Given the description of an element on the screen output the (x, y) to click on. 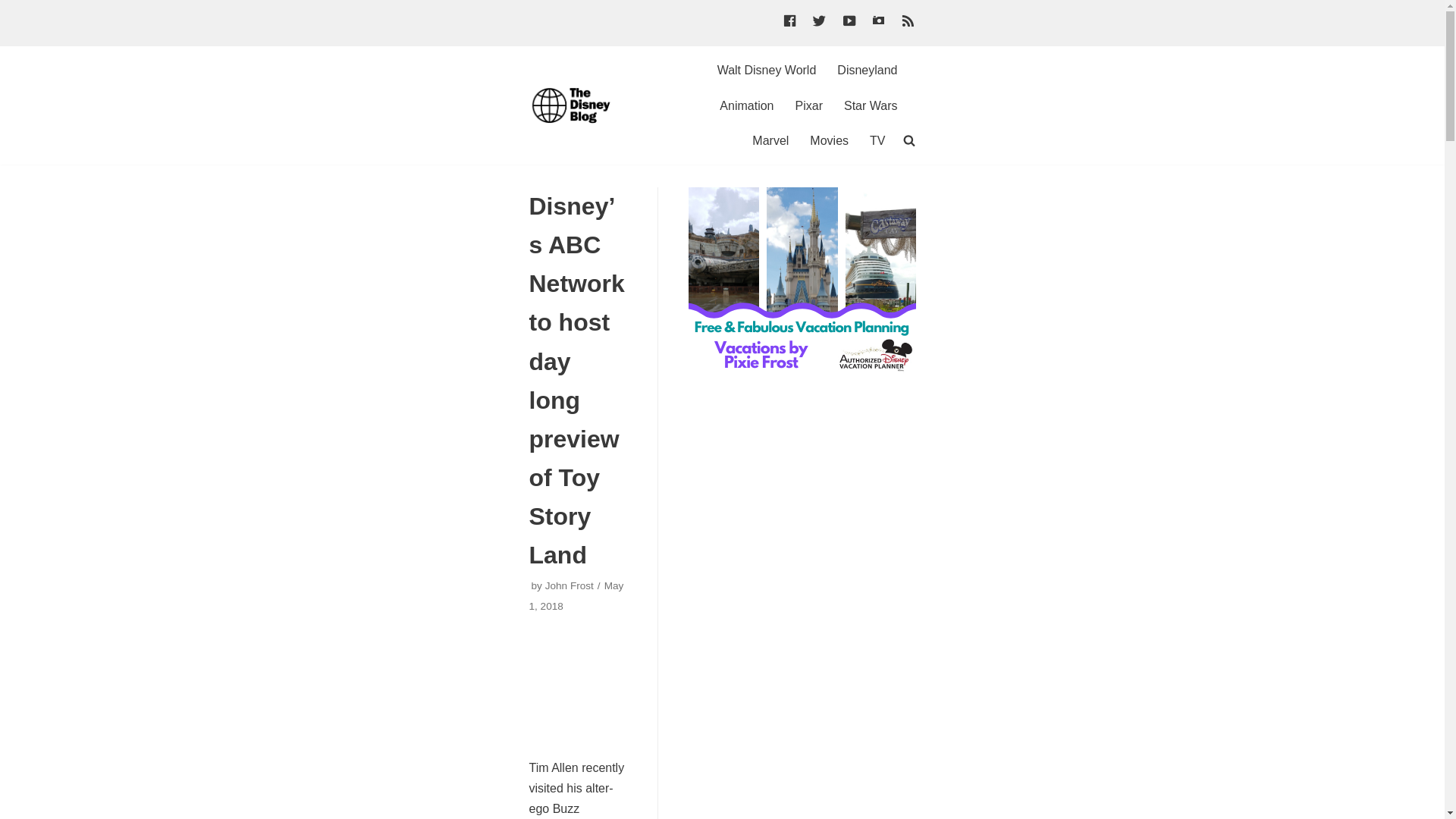
The Disney Blog (574, 104)
Skip to content (15, 7)
Walt Disney World (766, 69)
Posts by John Frost (569, 585)
Marvel (770, 140)
John Frost (569, 585)
Animation (746, 105)
Disneyland (866, 69)
Movies (828, 140)
Star Wars (871, 105)
